Given the description of an element on the screen output the (x, y) to click on. 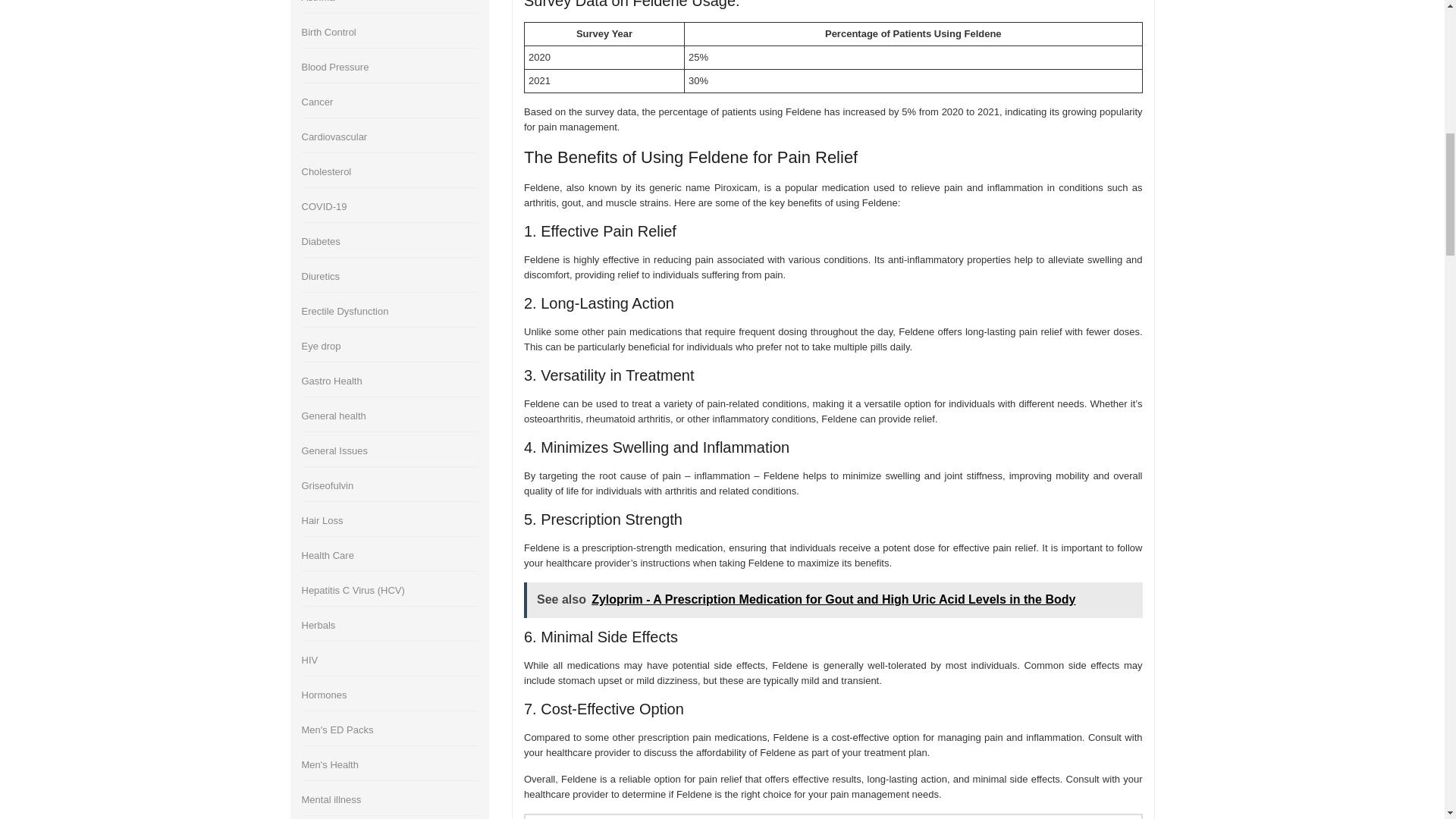
Cancer (317, 101)
Cholesterol (326, 171)
Blood Pressure (335, 66)
Asthma (317, 1)
Diabetes (320, 241)
Birth Control (328, 31)
Cardiovascular (334, 136)
COVID-19 (324, 206)
